Given the description of an element on the screen output the (x, y) to click on. 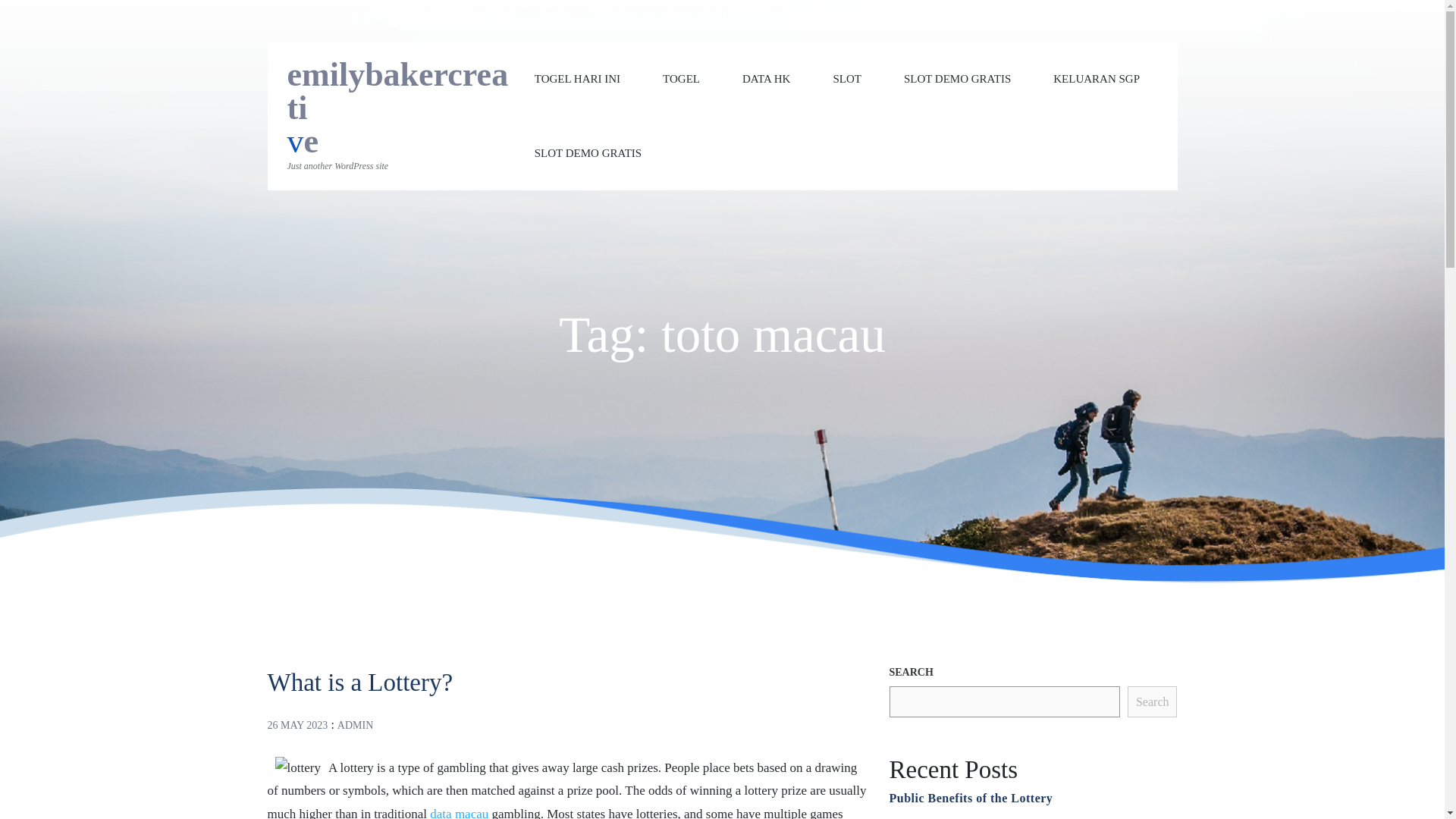
26 MAY 2023 (296, 725)
SLOT (846, 78)
Search (1151, 701)
SLOT DEMO GRATIS (957, 78)
KELUARAN SGP (1096, 78)
ADMIN (354, 725)
DATA HK (766, 78)
TOGEL (681, 78)
Public Benefits of the Lottery (970, 797)
data macau (458, 812)
